Given the description of an element on the screen output the (x, y) to click on. 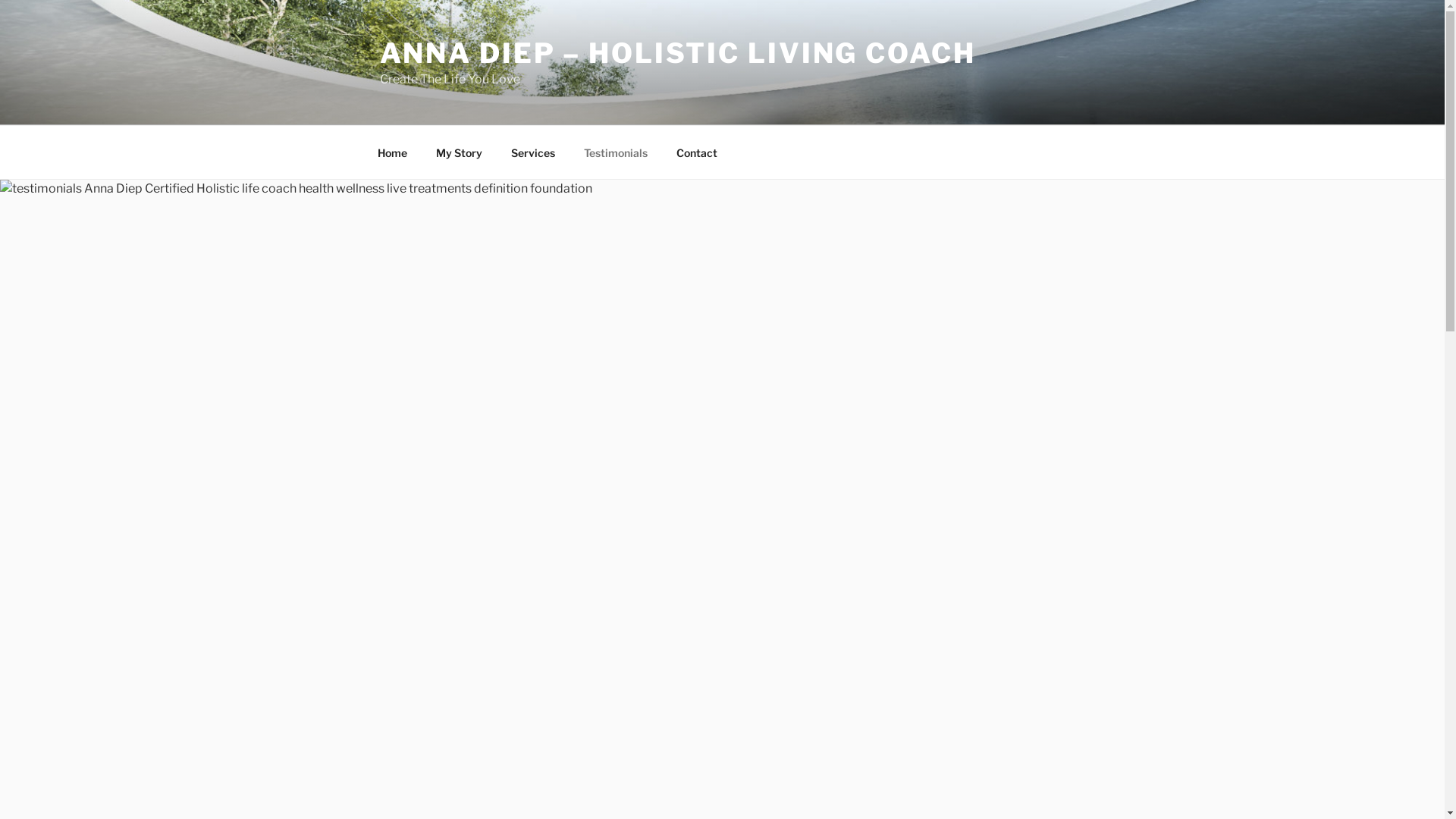
Home Element type: text (392, 151)
Testimonials Element type: text (615, 151)
Contact Element type: text (696, 151)
My Story Element type: text (459, 151)
Services Element type: text (532, 151)
